Given the description of an element on the screen output the (x, y) to click on. 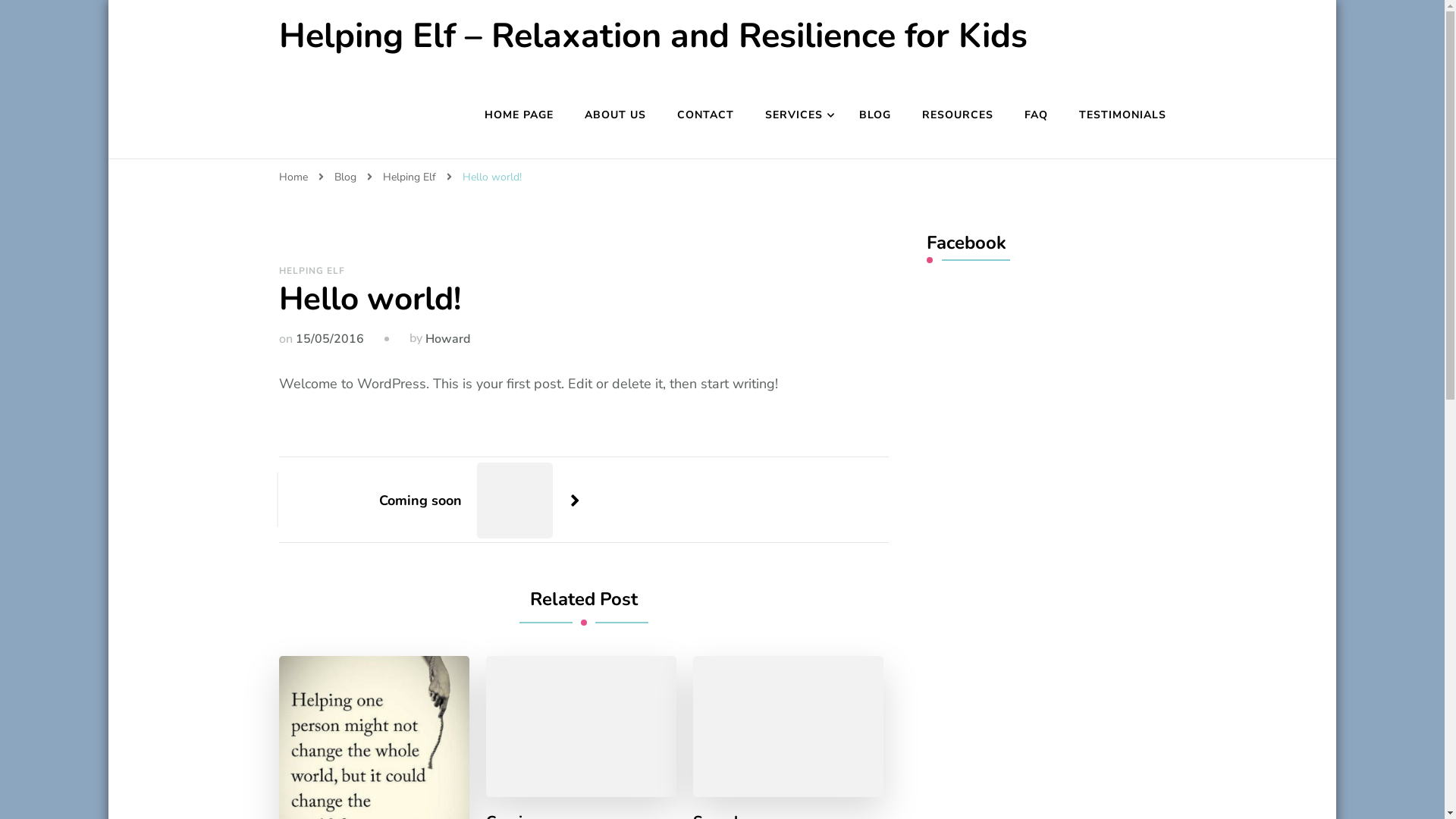
Blog Element type: text (345, 176)
Helping Elf Element type: text (410, 176)
CONTACT Element type: text (704, 115)
15/05/2016 Element type: text (329, 338)
HELPING ELF Element type: text (312, 270)
Howard Element type: text (446, 338)
ABOUT US Element type: text (614, 115)
Coming soon Element type: text (479, 500)
BLOG Element type: text (873, 115)
Home Element type: text (293, 176)
SERVICES Element type: text (795, 115)
Hello world! Element type: text (491, 176)
FAQ Element type: text (1035, 115)
RESOURCES Element type: text (957, 115)
TESTIMONIALS Element type: text (1114, 115)
HOME PAGE Element type: text (518, 115)
